Given the description of an element on the screen output the (x, y) to click on. 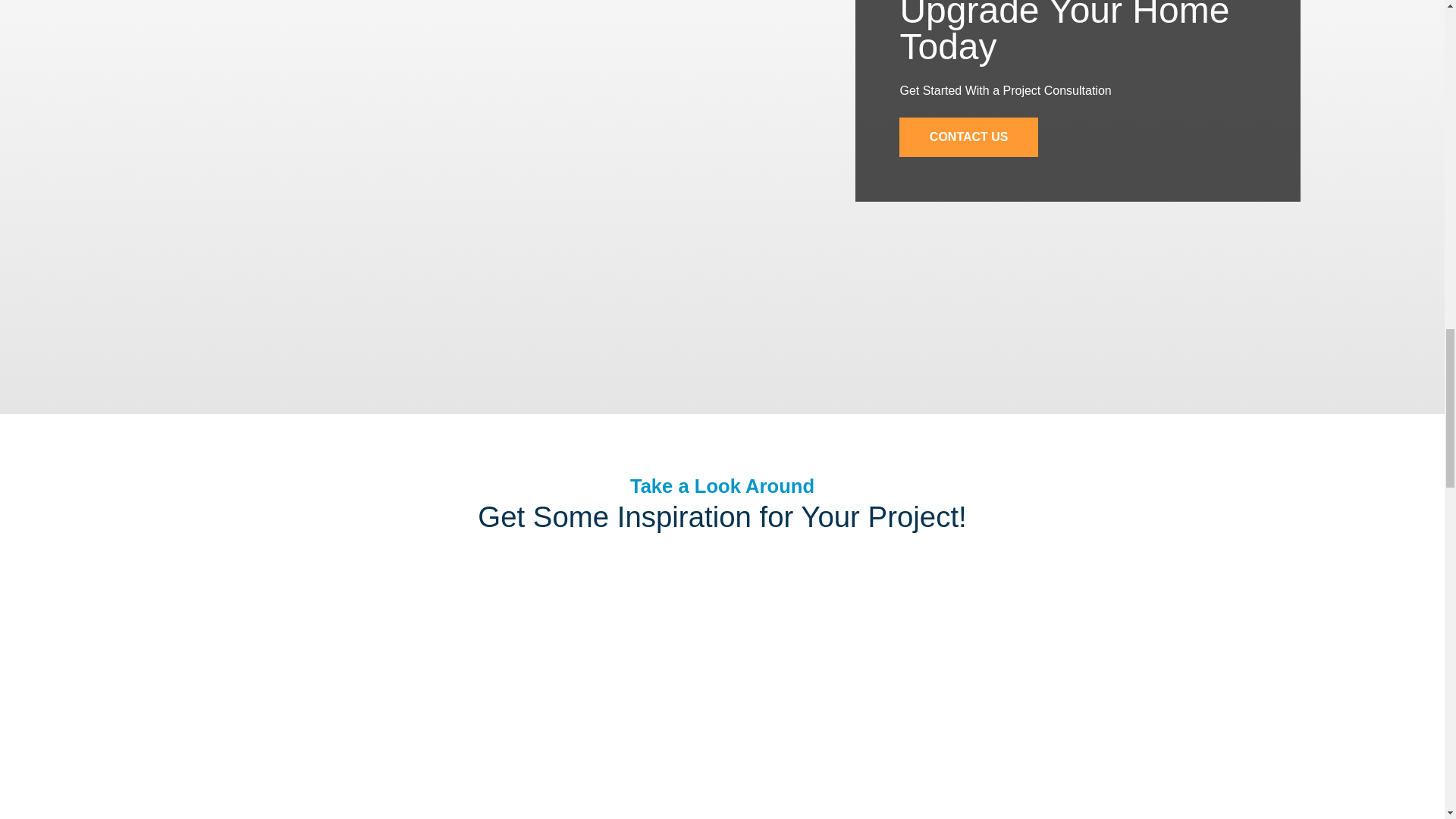
Gallery Image (273, 656)
Gallery Image (423, 784)
CONTACT US (967, 137)
Gallery Image (573, 656)
